Given the description of an element on the screen output the (x, y) to click on. 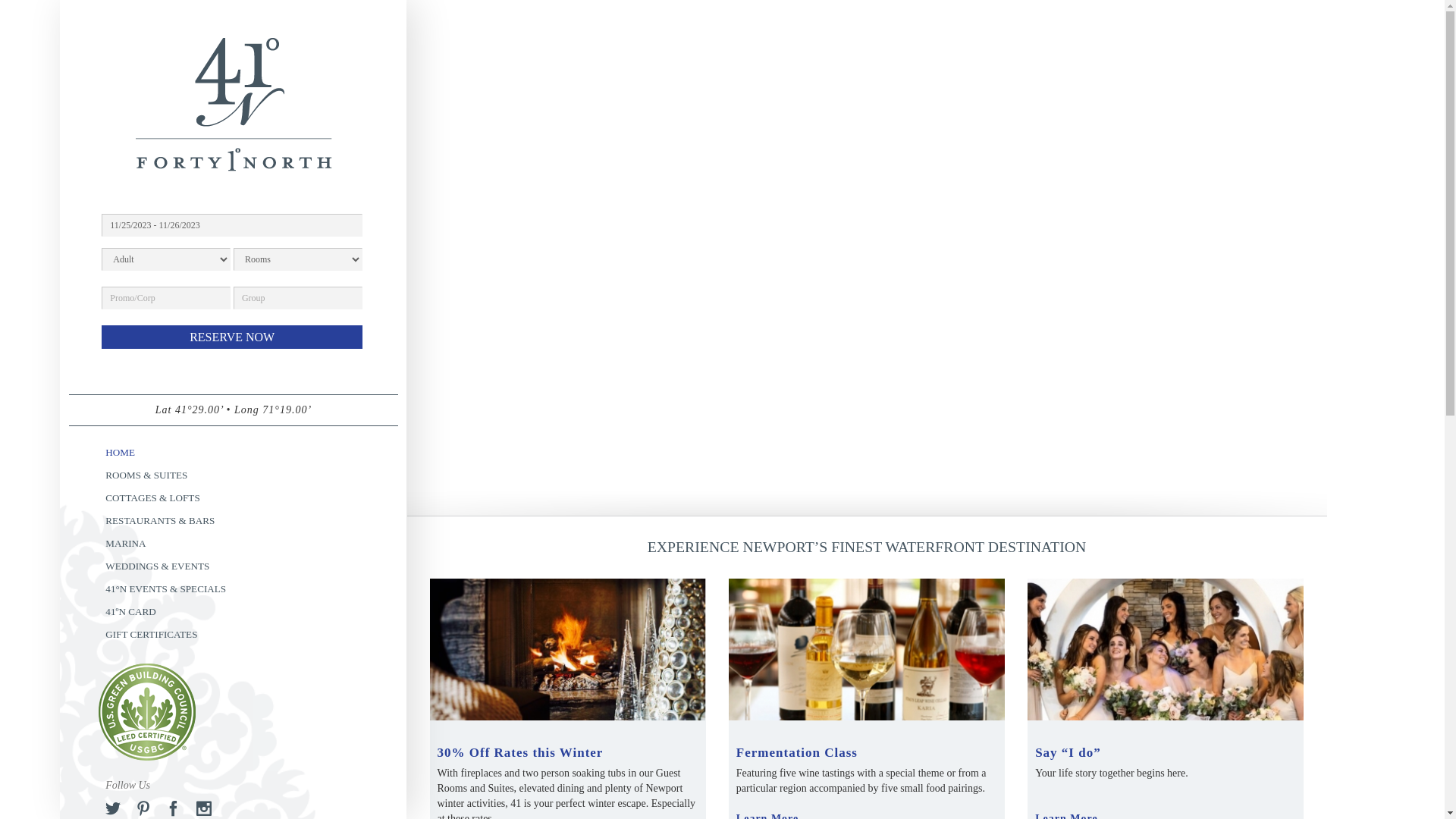
Pinterest Element type: text (142, 807)
Instagram Element type: text (203, 807)
HOME Element type: text (232, 452)
ROOMS & SUITES Element type: text (232, 475)
RESERVE NOW Element type: text (231, 336)
Fermentation Class Element type: text (796, 752)
RESTAURANTS & BARS Element type: text (232, 520)
GIFT CERTIFICATES Element type: text (232, 634)
Twitter Element type: text (112, 807)
30% Off Rates this Winter Element type: text (519, 752)
Facebook Element type: text (173, 807)
WEDDINGS & EVENTS Element type: text (232, 566)
MARINA Element type: text (232, 543)
COTTAGES & LOFTS Element type: text (232, 497)
